Given the description of an element on the screen output the (x, y) to click on. 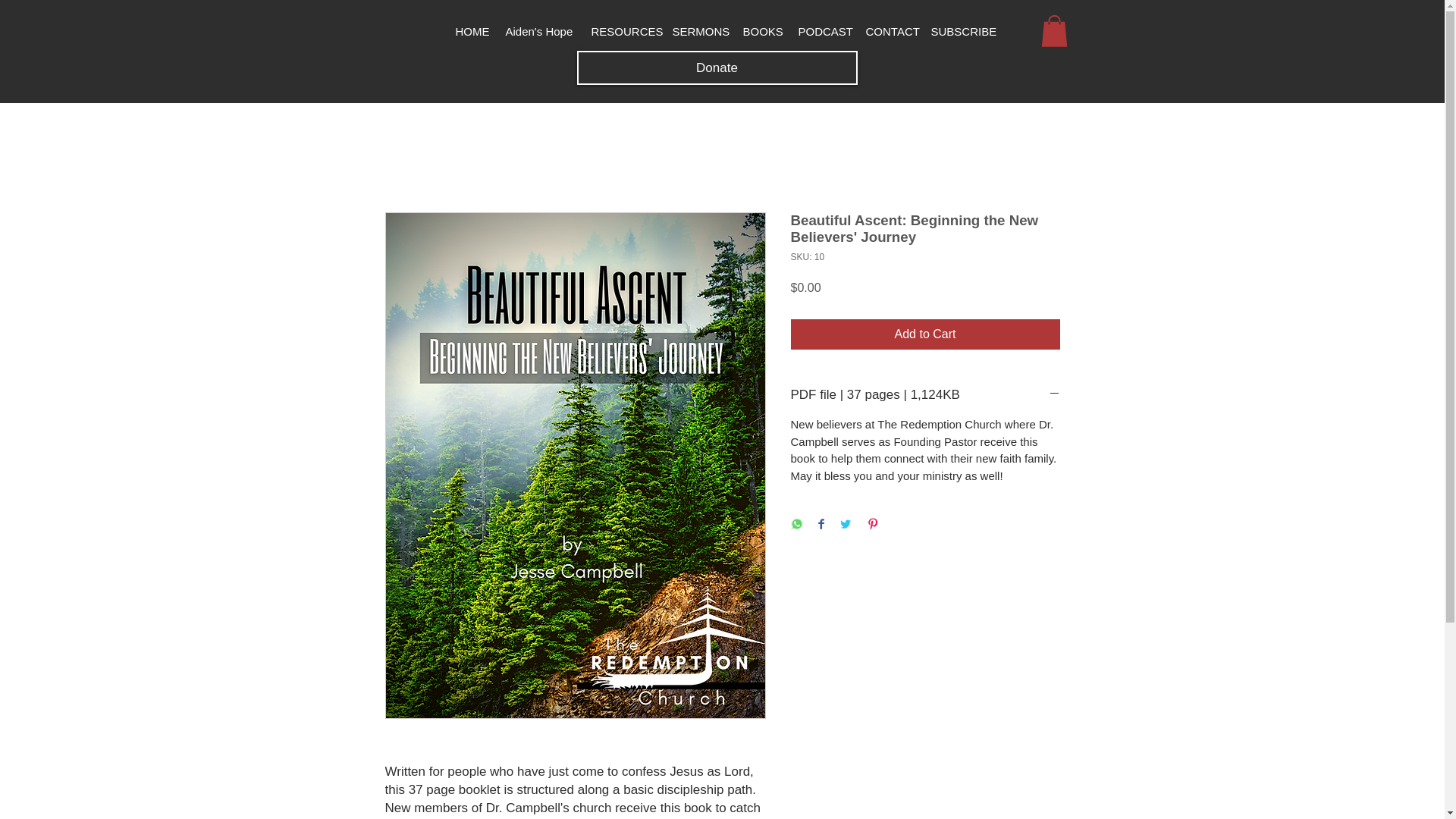
Aiden's Hope (538, 31)
CONTACT (888, 31)
BOOKS (759, 31)
RESOURCES (621, 31)
Add to Cart (924, 333)
Donate (716, 67)
SERMONS (697, 31)
SUBSCRIBE (959, 31)
HOME (470, 31)
PODCAST (822, 31)
